Given the description of an element on the screen output the (x, y) to click on. 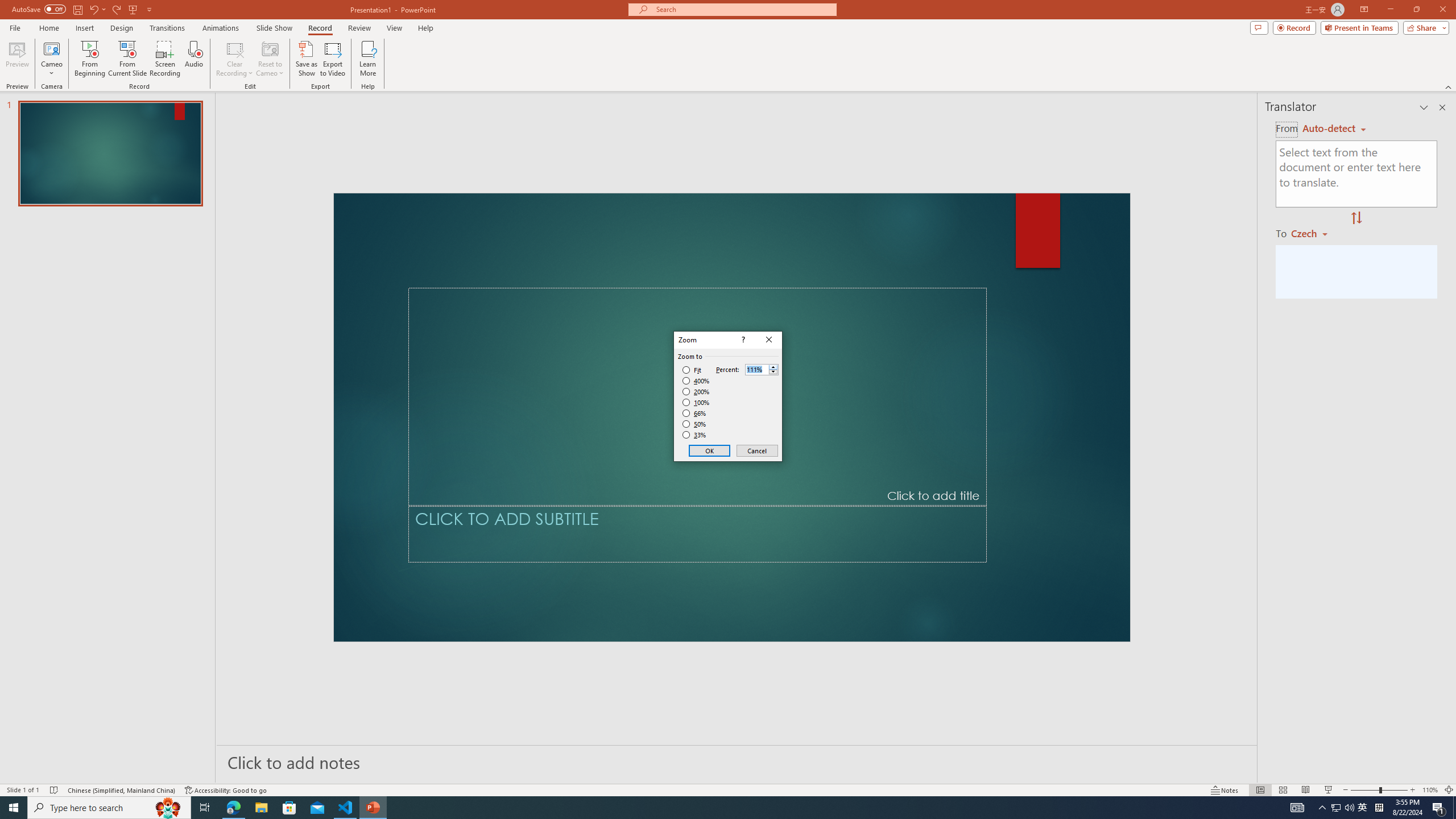
33% (694, 434)
Zoom 110% (1430, 790)
200% (696, 391)
